Given the description of an element on the screen output the (x, y) to click on. 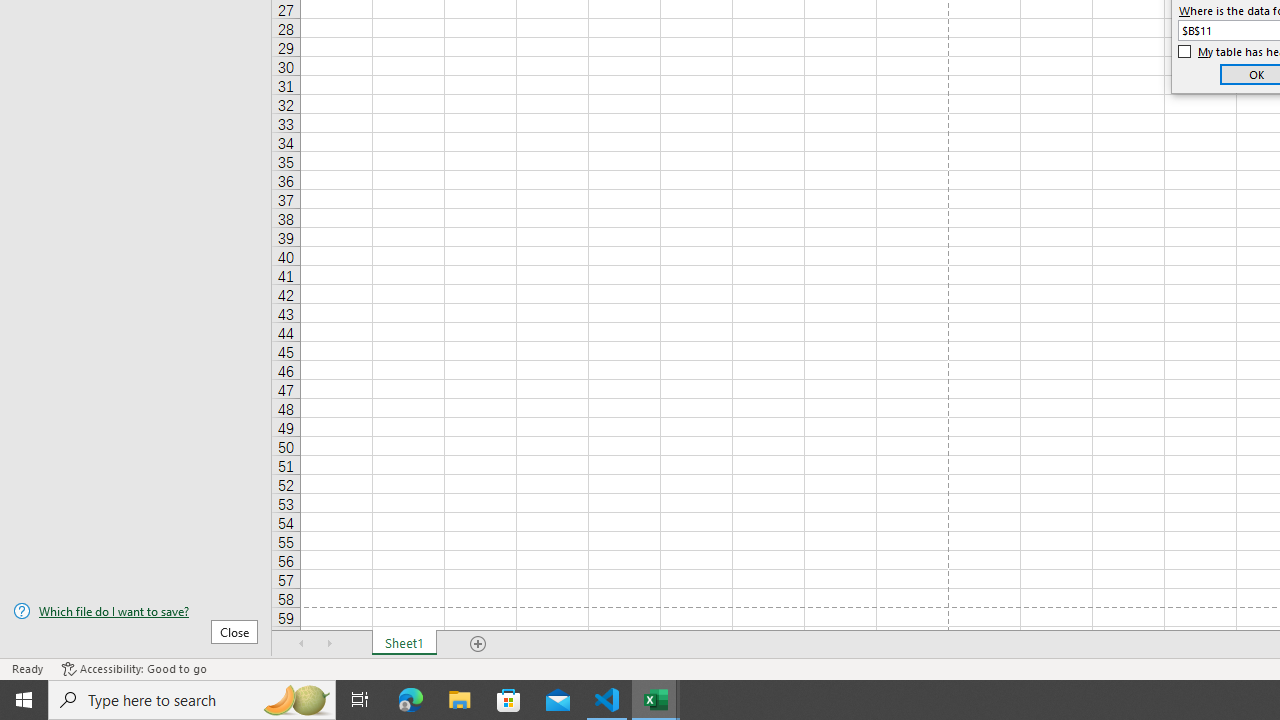
Which file do I want to save? (136, 611)
